Given the description of an element on the screen output the (x, y) to click on. 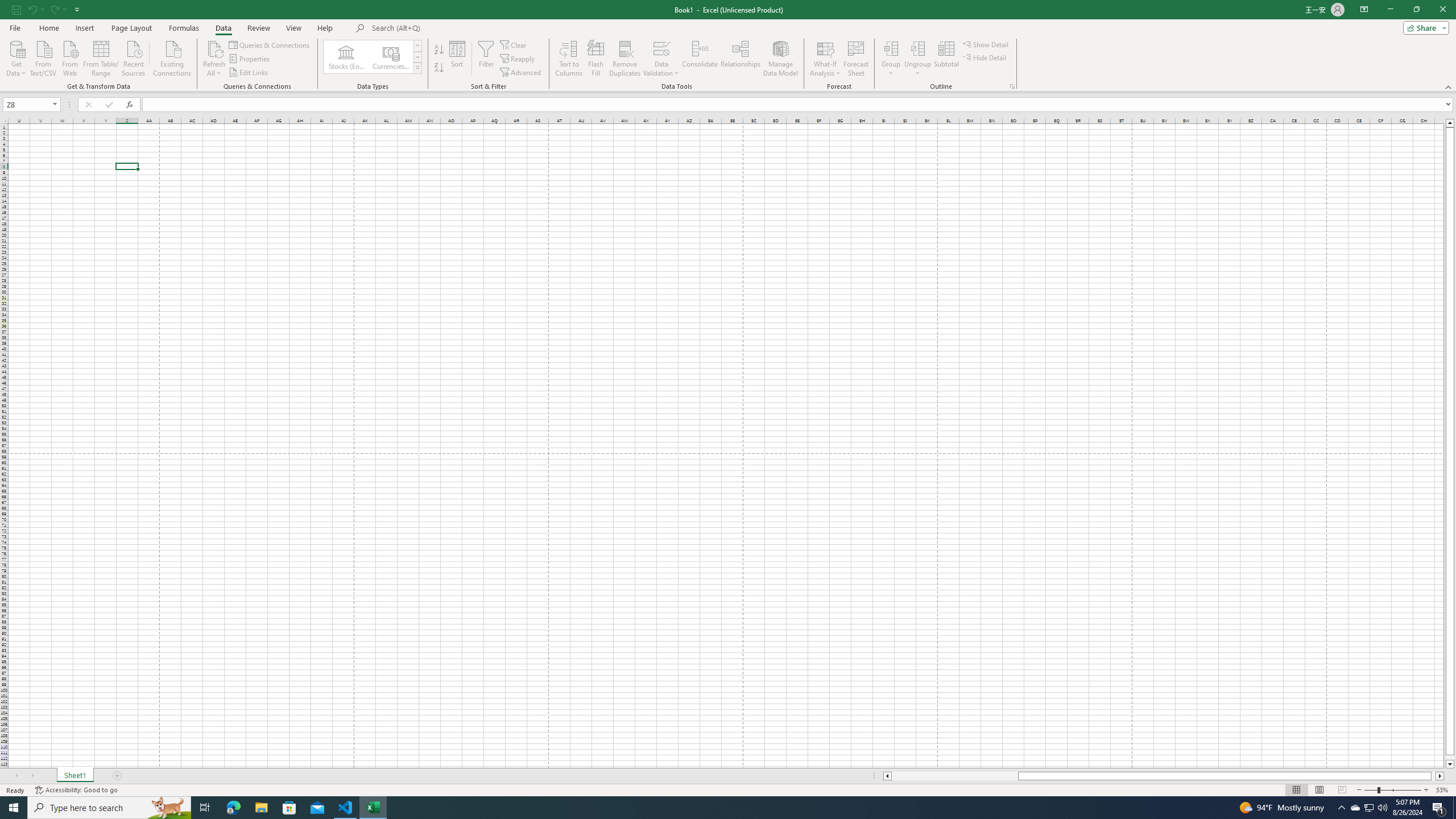
Ribbon Display Options (1364, 9)
Hide Detail (985, 56)
Relationships (740, 58)
Class: MsoCommandBar (728, 45)
File Tab (15, 27)
Reapply (517, 58)
Stocks (English) (346, 56)
Customize Quick Access Toolbar (77, 9)
Remove Duplicates (625, 58)
Sort Z to A (438, 67)
Refresh All (214, 58)
Sort A to Z (438, 49)
Data Validation... (661, 48)
